Given the description of an element on the screen output the (x, y) to click on. 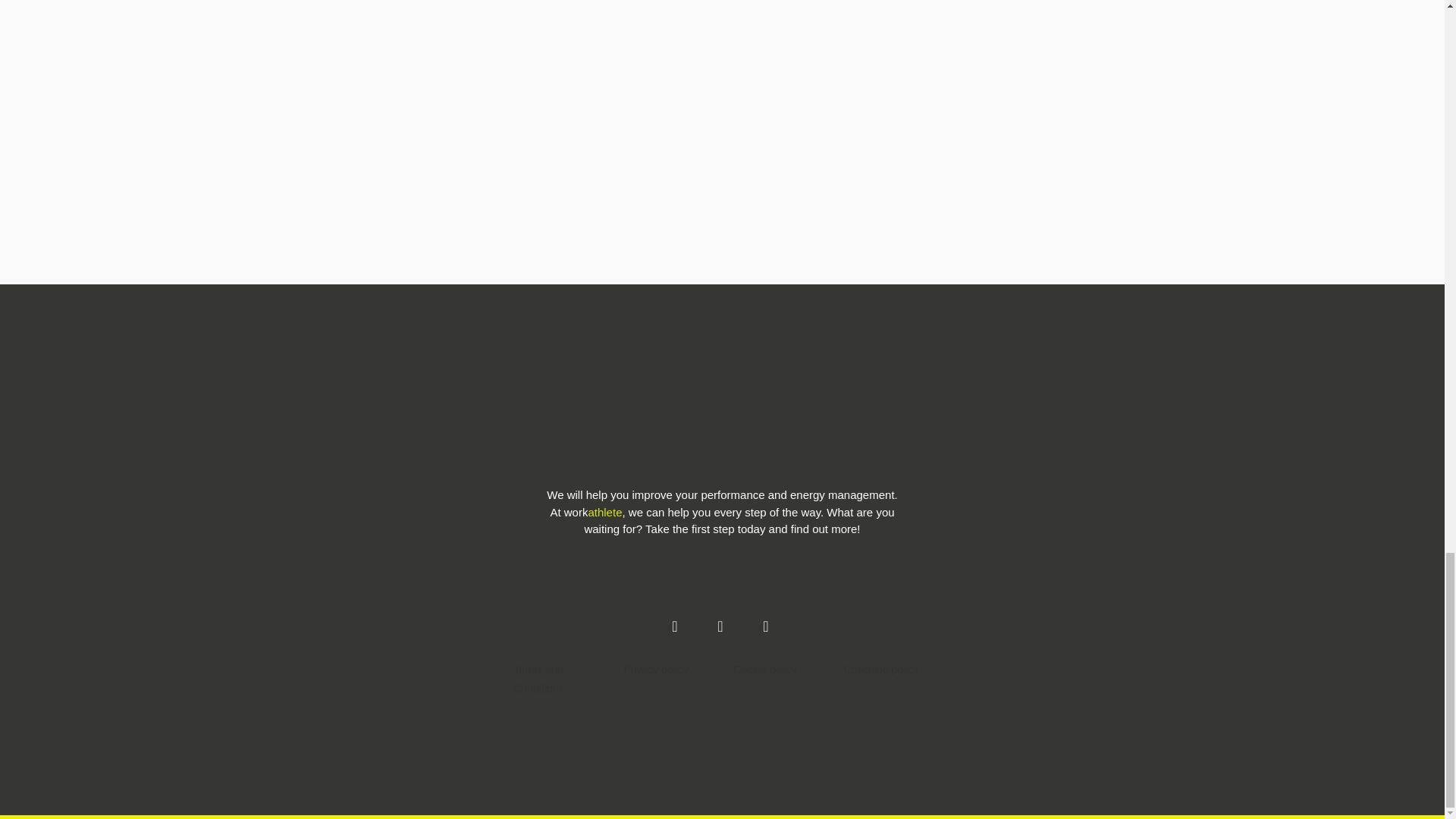
Privacy policy (656, 669)
Terms and Conditions (556, 678)
Cookie policy (765, 669)
Coaching policy (881, 669)
